Given the description of an element on the screen output the (x, y) to click on. 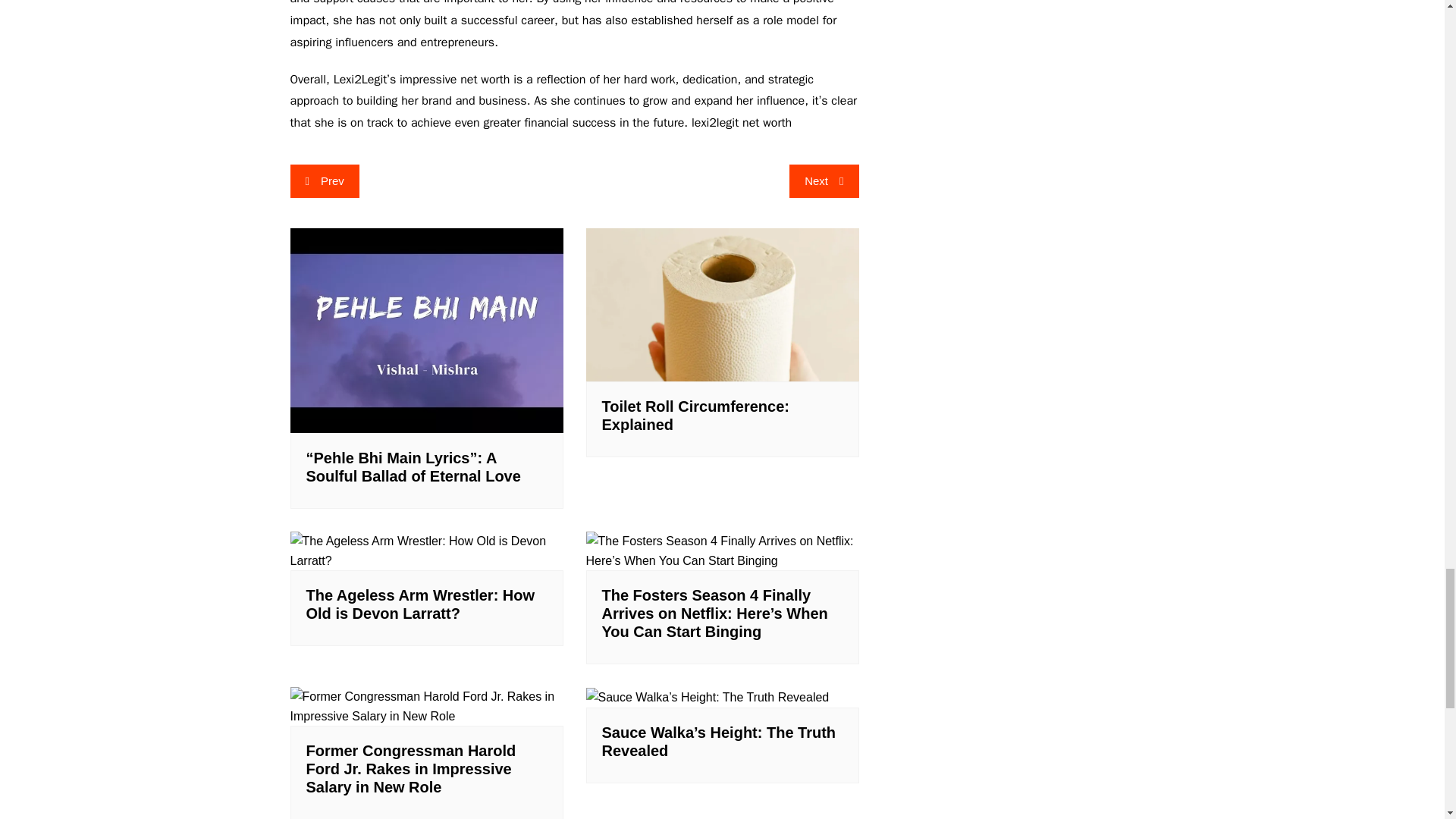
The Ageless Arm Wrestler: How Old is Devon Larratt? (425, 550)
Toilet Roll (722, 305)
